Given the description of an element on the screen output the (x, y) to click on. 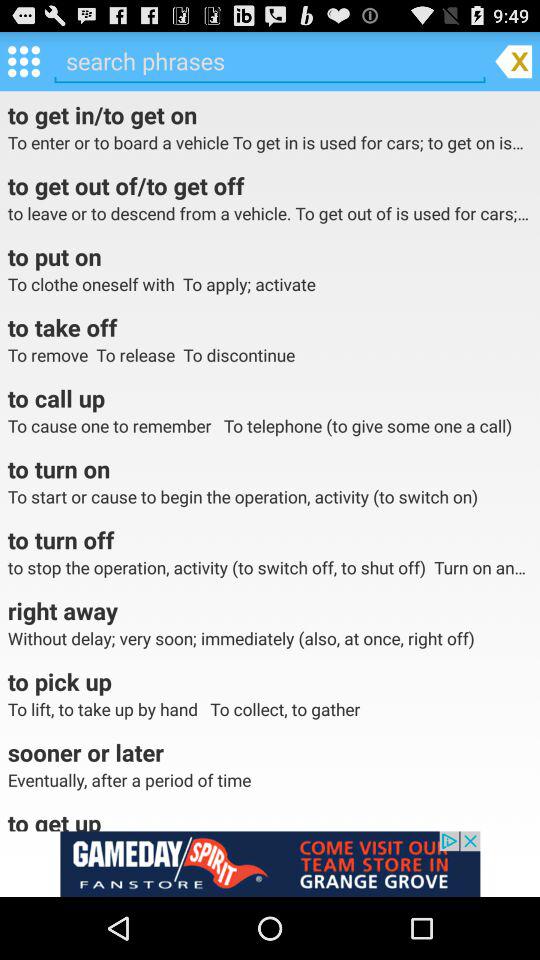
english teacher display (270, 864)
